Given the description of an element on the screen output the (x, y) to click on. 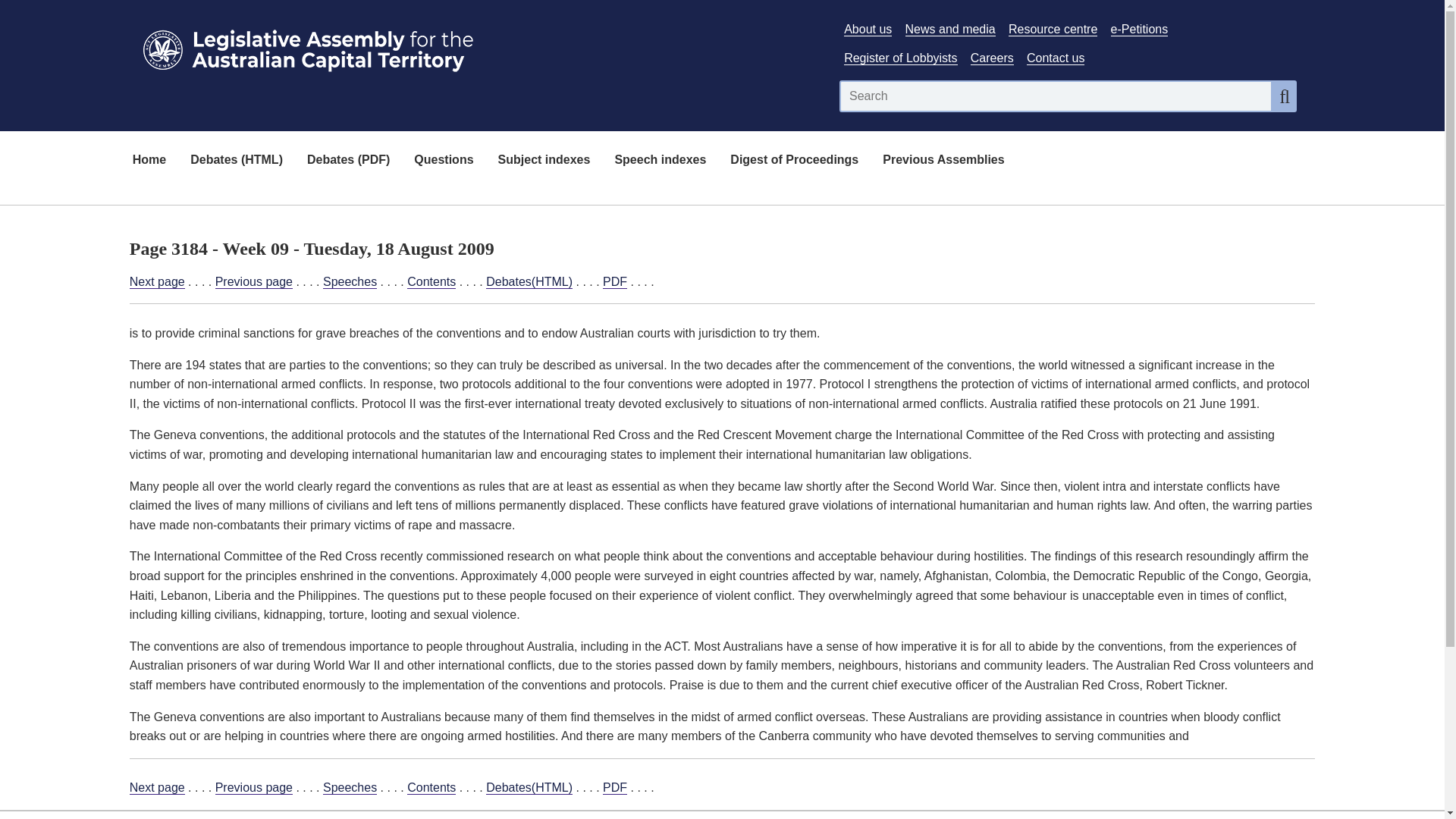
Contents (431, 282)
Next page (156, 282)
Link to Resource centre (1053, 29)
Previous Assemblies (943, 160)
Speeches (350, 282)
Careers (992, 58)
Speeches (350, 787)
Link to Register of Lobbyists (900, 58)
Link to Careers (992, 58)
News and media (950, 29)
Resource centre (1053, 29)
PDF (614, 282)
Register of Lobbyists (900, 58)
Link to Homepage (475, 46)
Search input field (1056, 96)
